Given the description of an element on the screen output the (x, y) to click on. 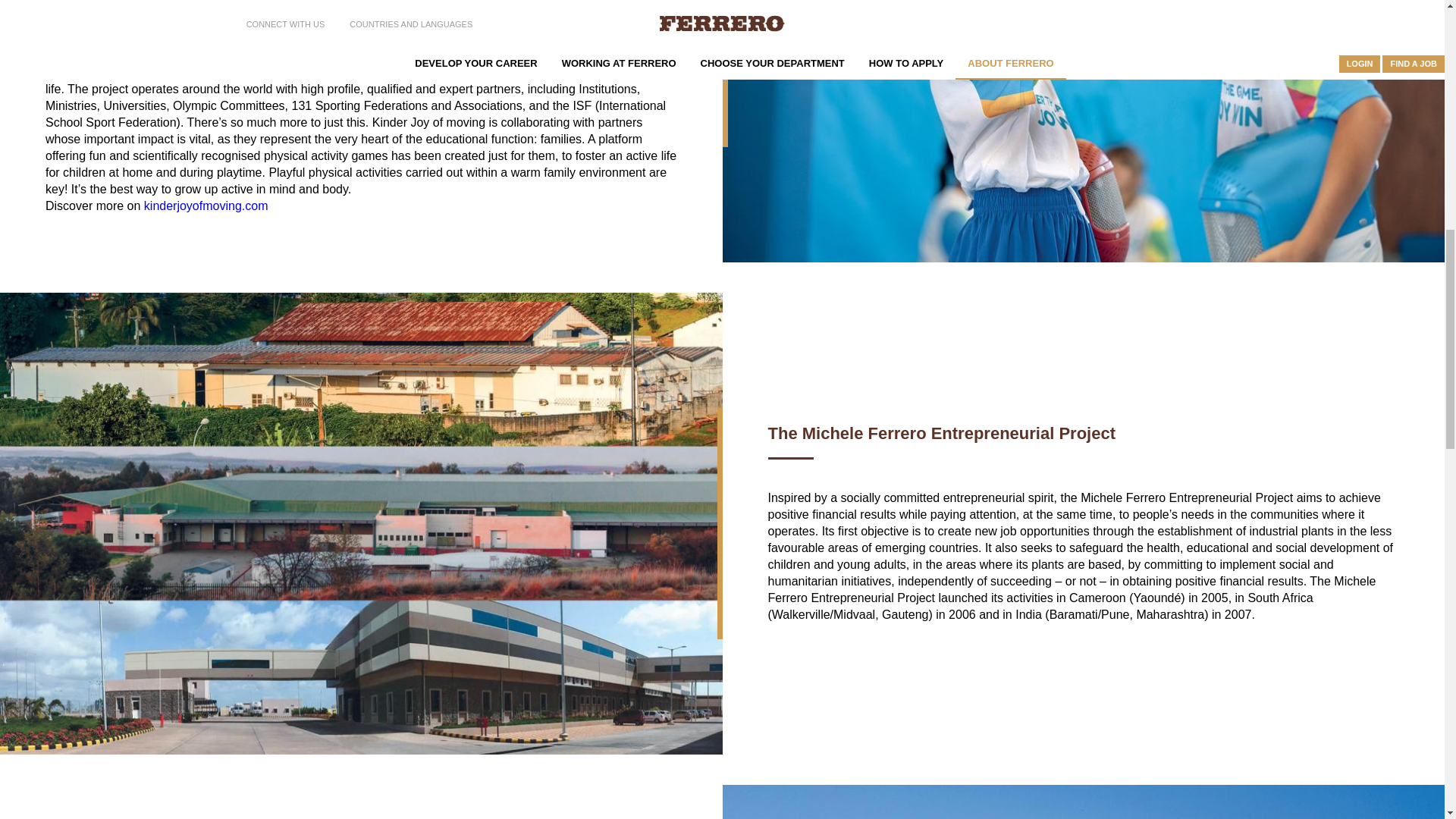
kinderjoyofmoving.com (205, 205)
